Given the description of an element on the screen output the (x, y) to click on. 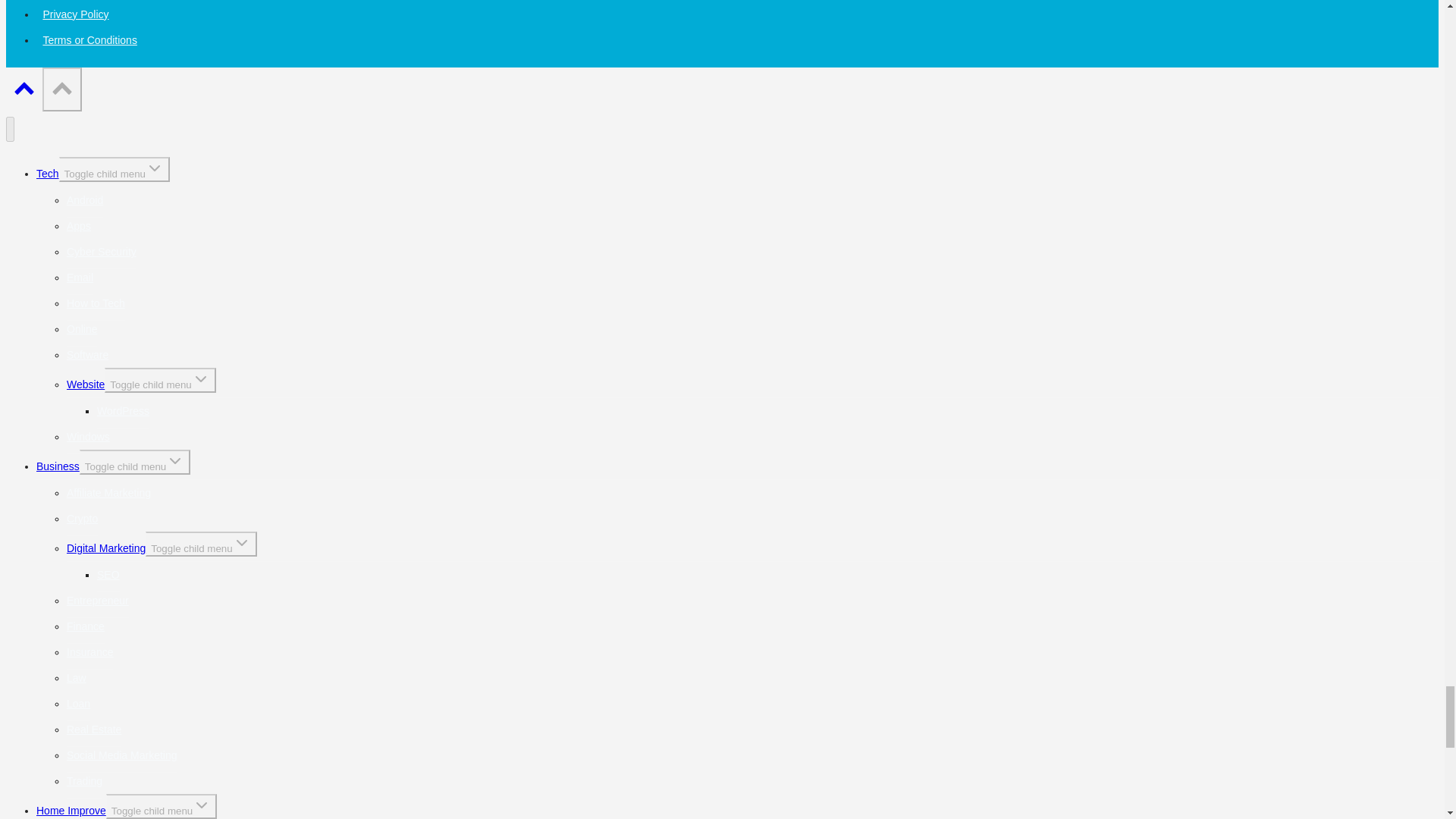
Scroll to top (61, 89)
Scroll to top (23, 90)
